Given the description of an element on the screen output the (x, y) to click on. 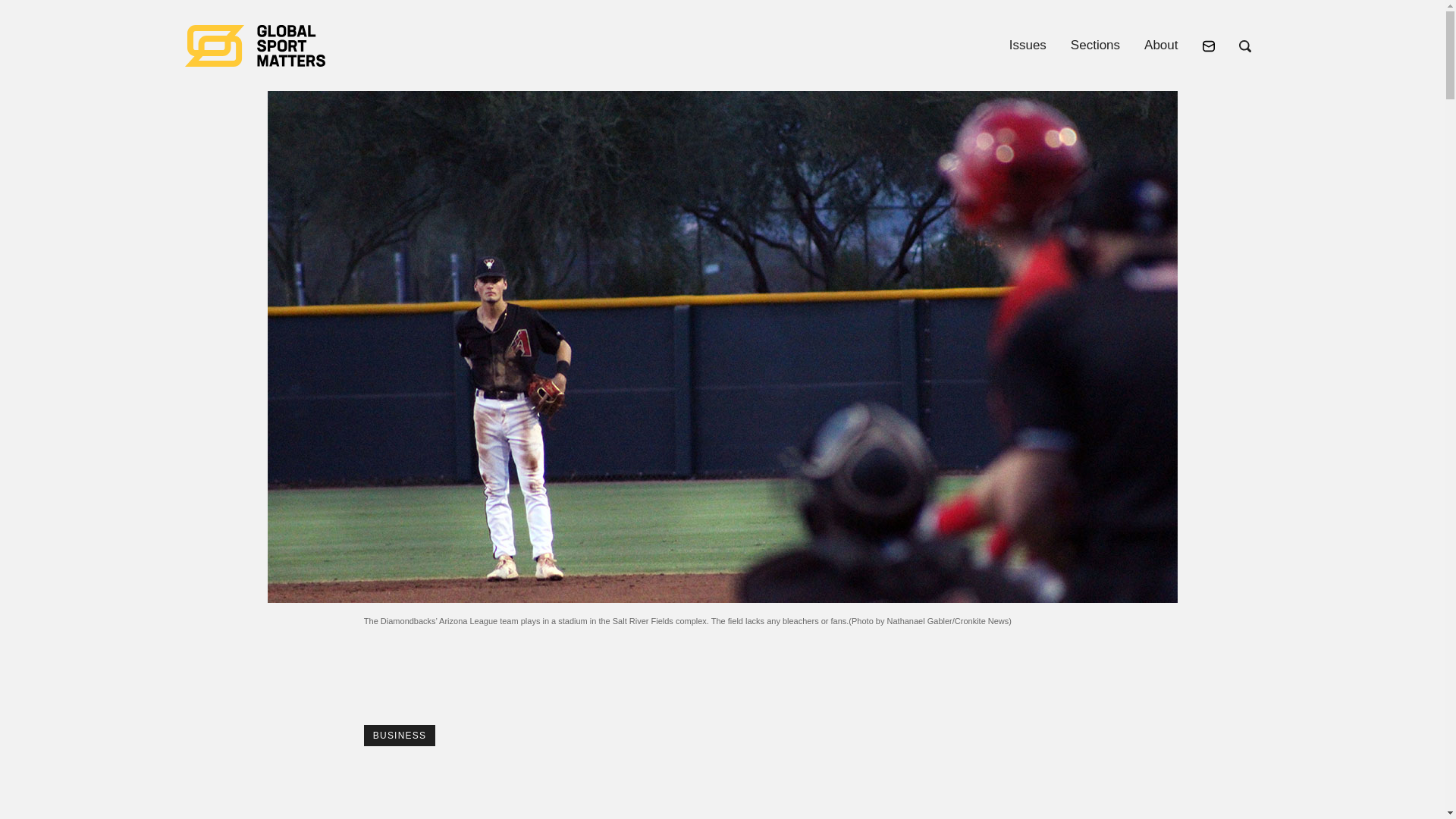
About (1160, 44)
BUSINESS (399, 735)
Issues (1027, 44)
Sections (1095, 44)
